Given the description of an element on the screen output the (x, y) to click on. 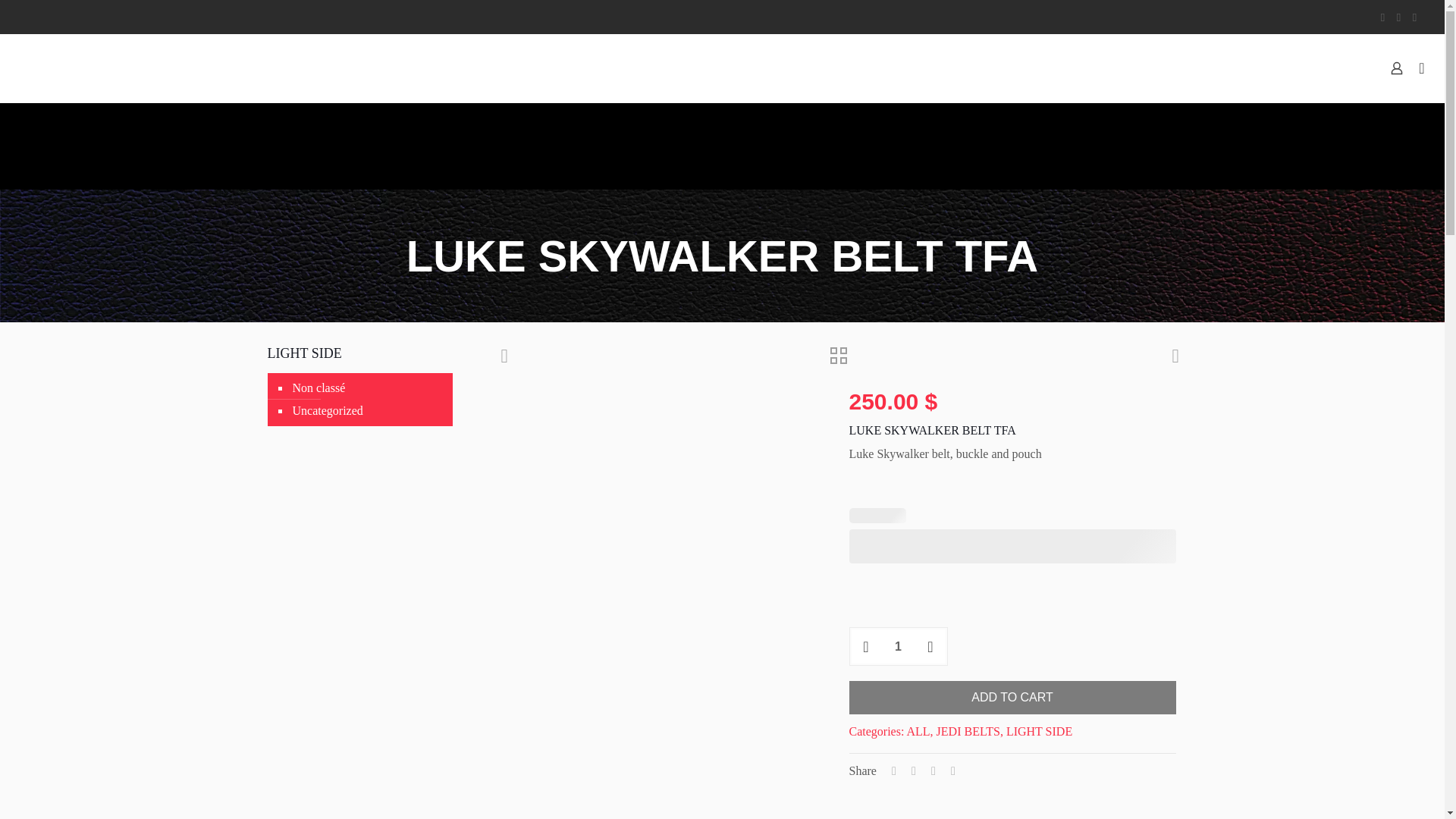
ALL (917, 730)
1 (897, 646)
Facebook (1383, 17)
HOME (835, 68)
MY ACCOUNT (1315, 68)
JEDI BELTS (968, 730)
BELTS (900, 68)
LIGHT SIDE (1038, 730)
Instagram (1415, 17)
Pinterest (1399, 17)
